Given the description of an element on the screen output the (x, y) to click on. 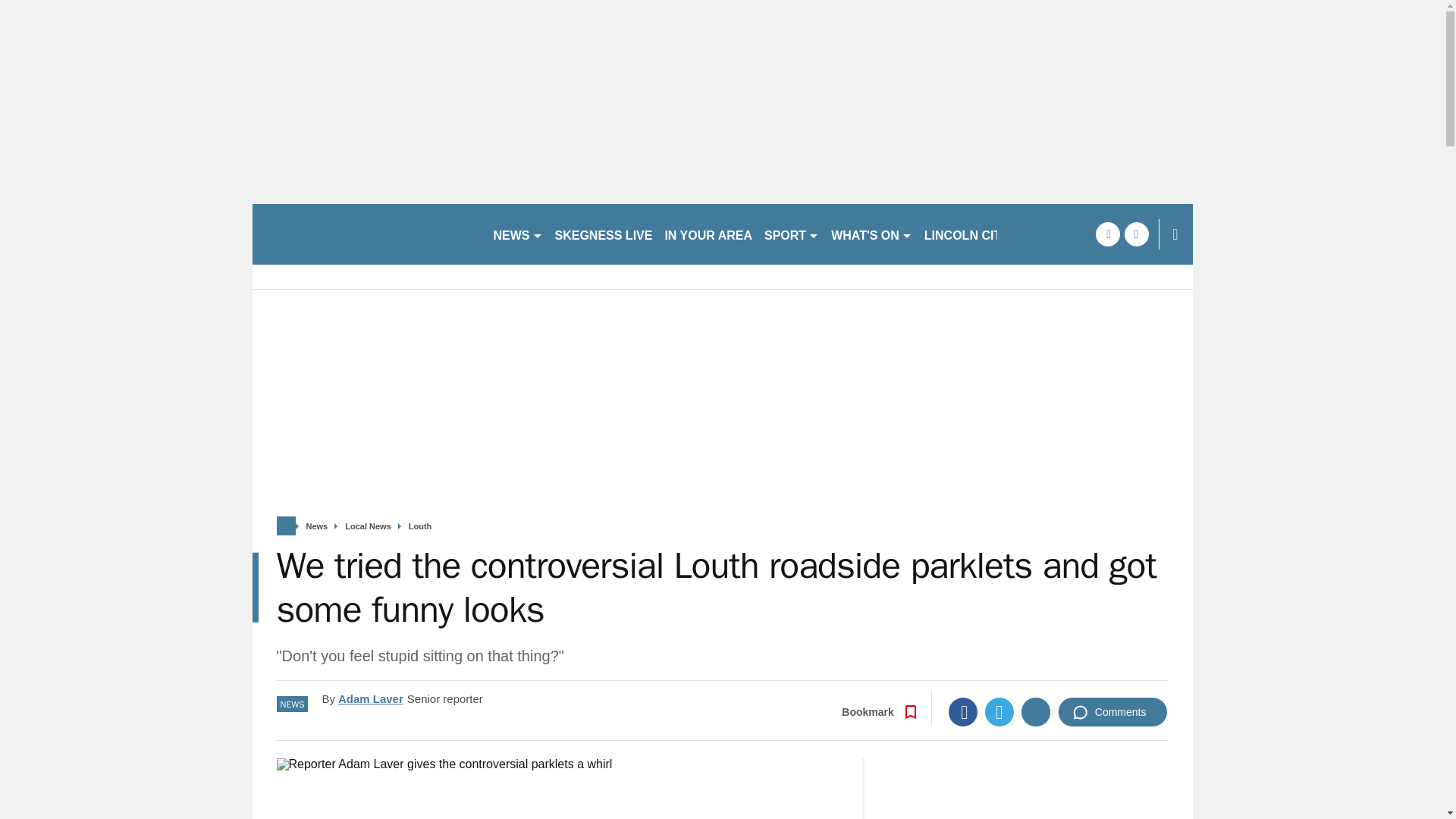
NEWS (517, 233)
SKEGNESS LIVE (603, 233)
LINCOLN CITY FC (975, 233)
twitter (1136, 233)
Comments (1112, 711)
WHAT'S ON (871, 233)
SPORT (791, 233)
IN YOUR AREA (708, 233)
lincolnshirelive (365, 233)
Twitter (999, 711)
